Given the description of an element on the screen output the (x, y) to click on. 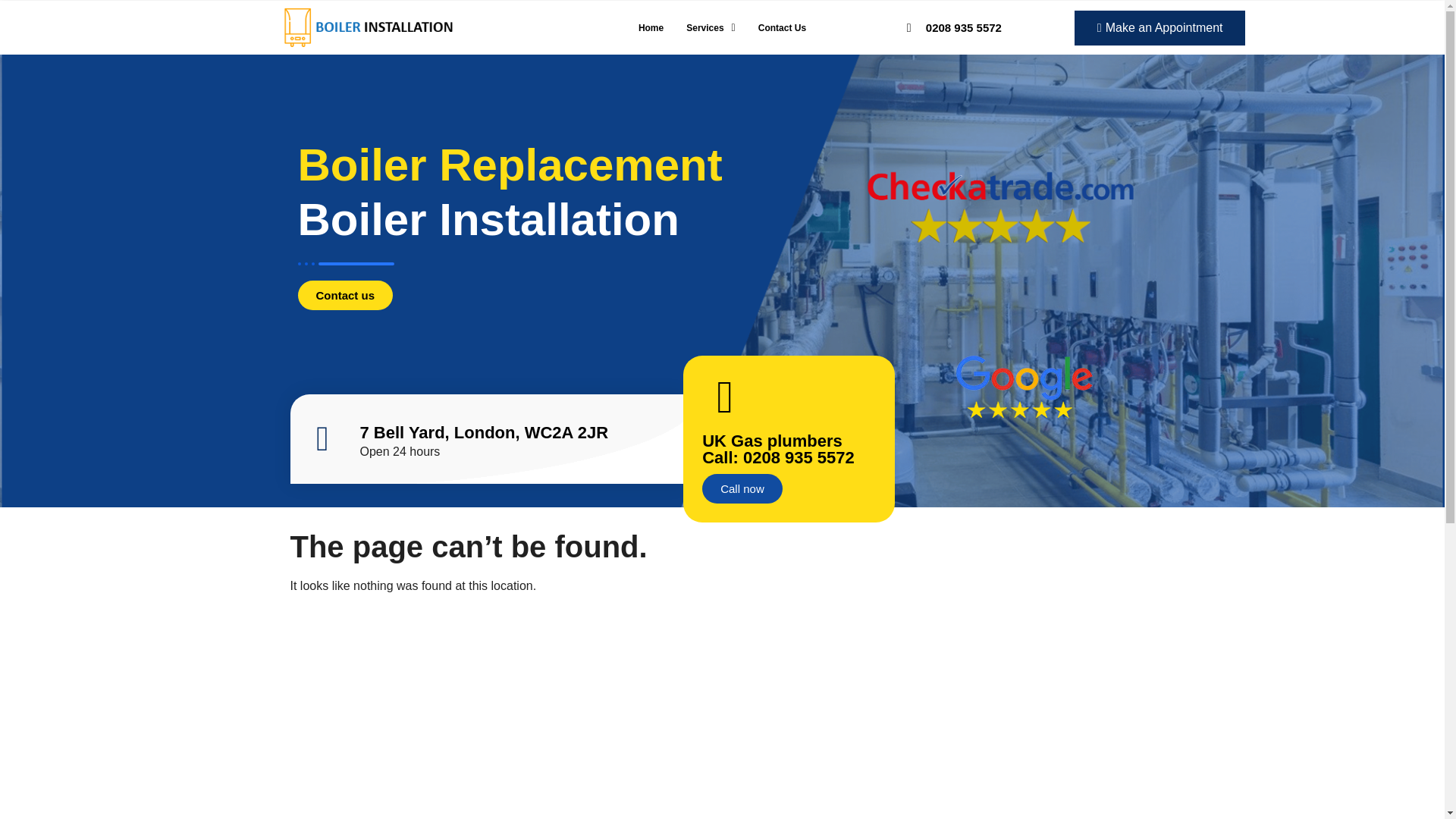
Call now (742, 488)
Make an Appointment (1160, 27)
Contact Us (781, 28)
Contact us (345, 295)
Services (710, 28)
Home (651, 28)
